Given the description of an element on the screen output the (x, y) to click on. 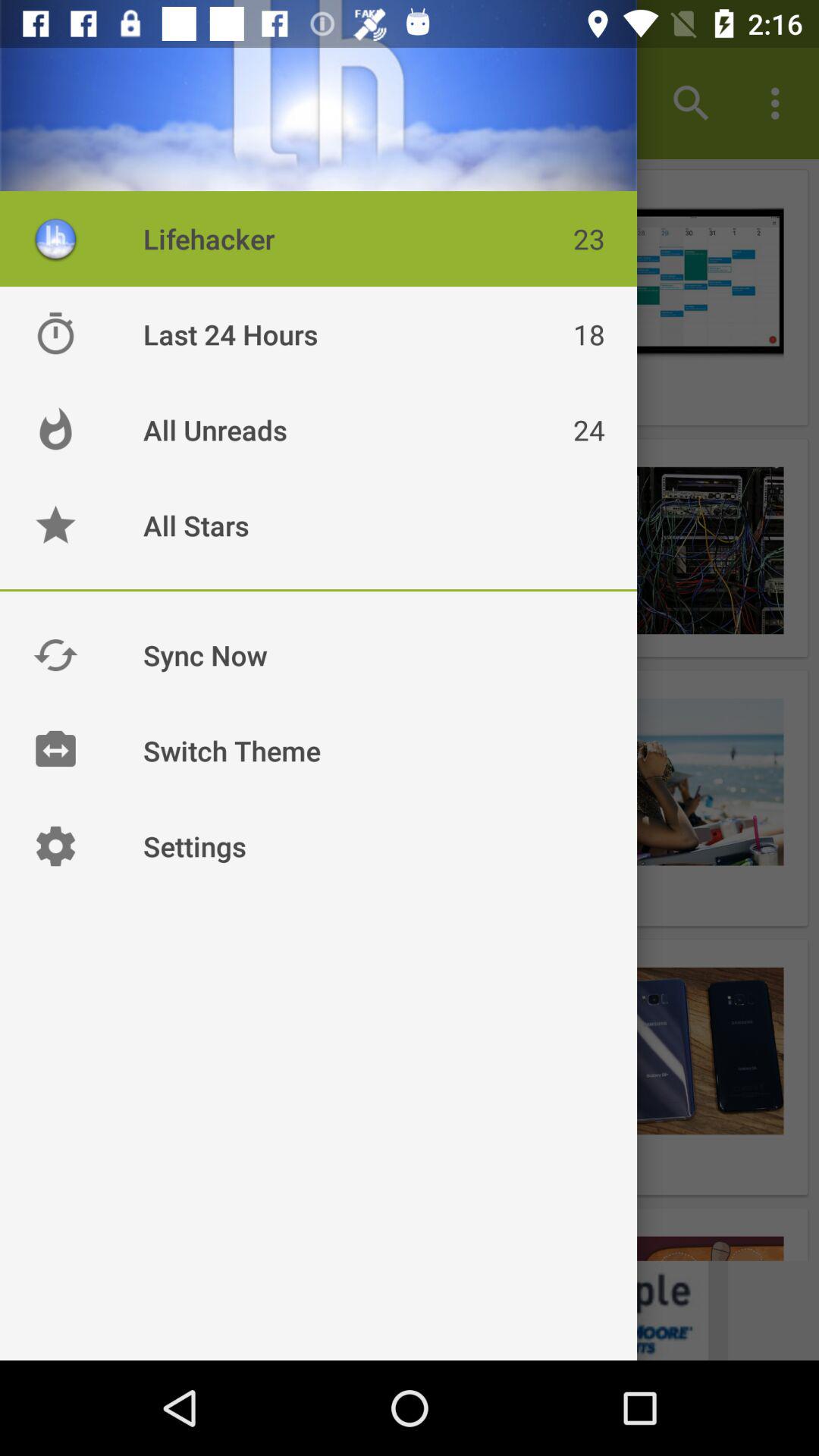
select the timer icon (55, 333)
